Given the description of an element on the screen output the (x, y) to click on. 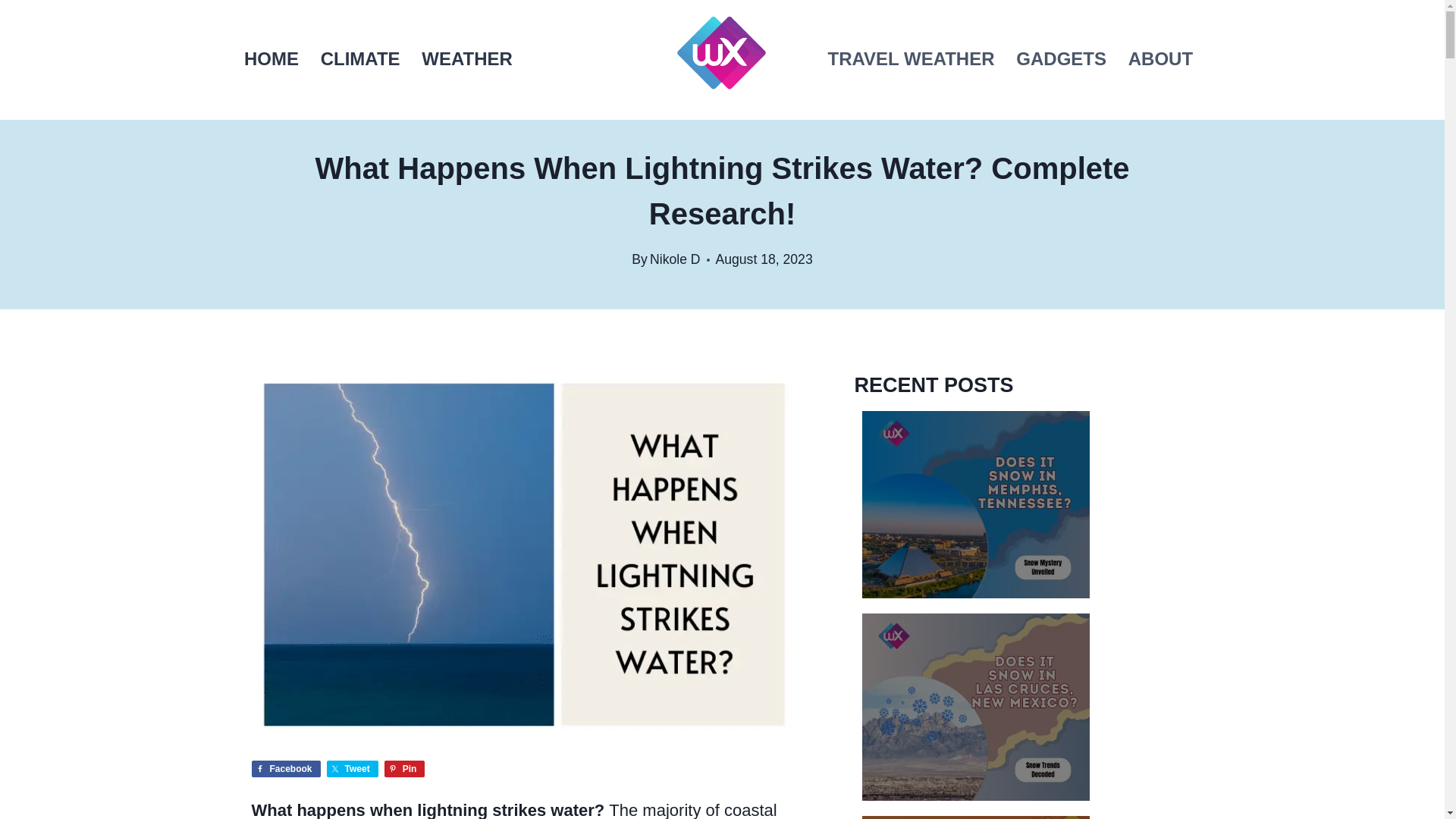
Facebook (285, 768)
CLIMATE (359, 59)
Share on Twitter (352, 768)
Share on Pinterest (404, 768)
Share on Facebook (285, 768)
Tweet (352, 768)
WEATHER (466, 59)
Nikole D (674, 258)
ABOUT (1160, 59)
GADGETS (1061, 59)
TRAVEL WEATHER (911, 59)
Pin (404, 768)
